Given the description of an element on the screen output the (x, y) to click on. 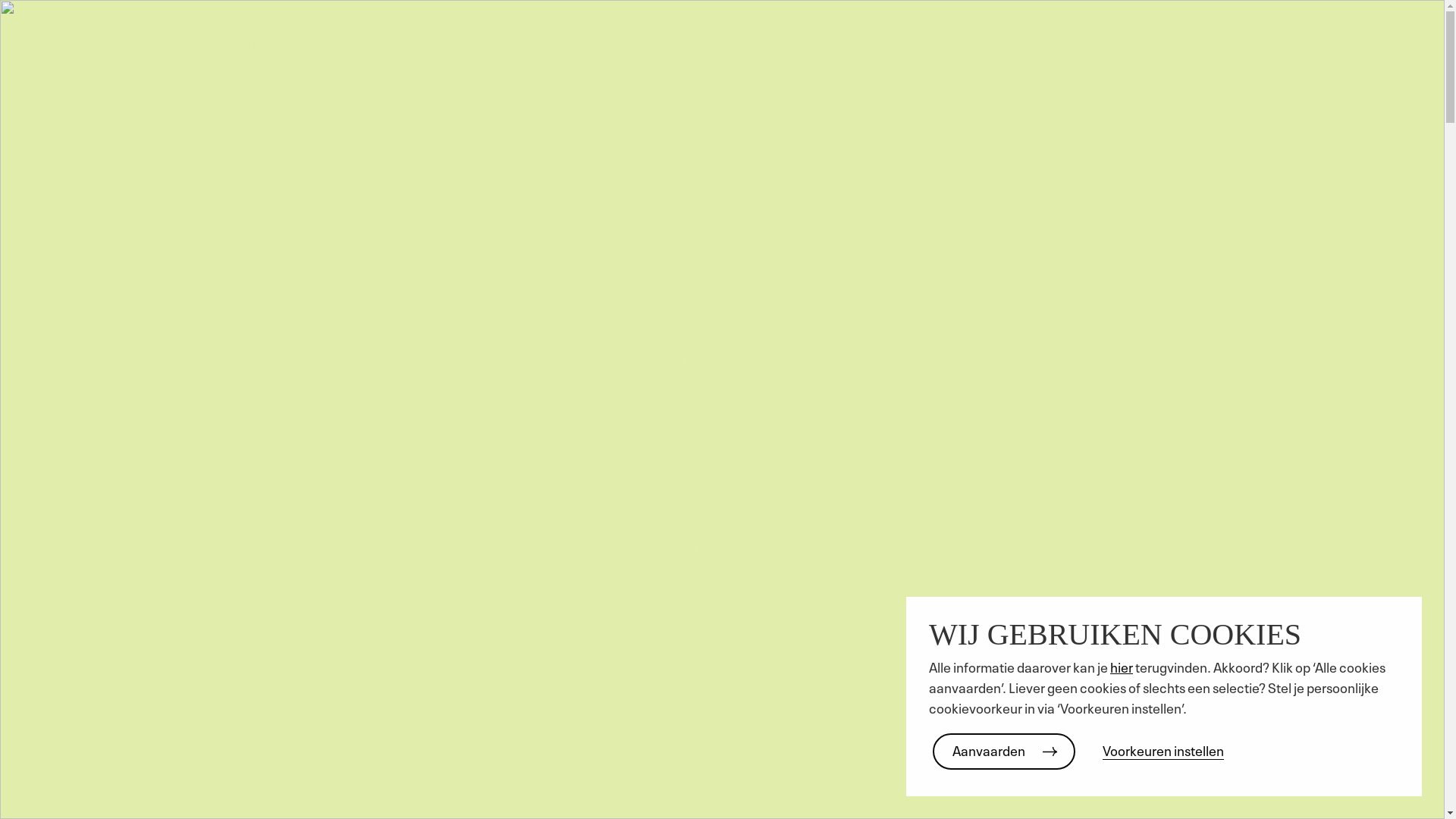
Contact Element type: text (1313, 40)
Circus boeken Element type: text (346, 40)
EN Element type: text (1367, 46)
Voorkeuren instellen Element type: text (1162, 749)
hier Element type: text (1121, 665)
Circus doen Element type: text (112, 40)
Ell Circo D'ell Fuego Element type: hover (721, 39)
NL Element type: text (1367, 34)
Events Element type: text (1239, 40)
Aanvaarden Element type: text (1003, 751)
Circus maken Element type: text (225, 40)
Nieuws Element type: text (1168, 40)
Over ons Element type: text (1089, 40)
